Given the description of an element on the screen output the (x, y) to click on. 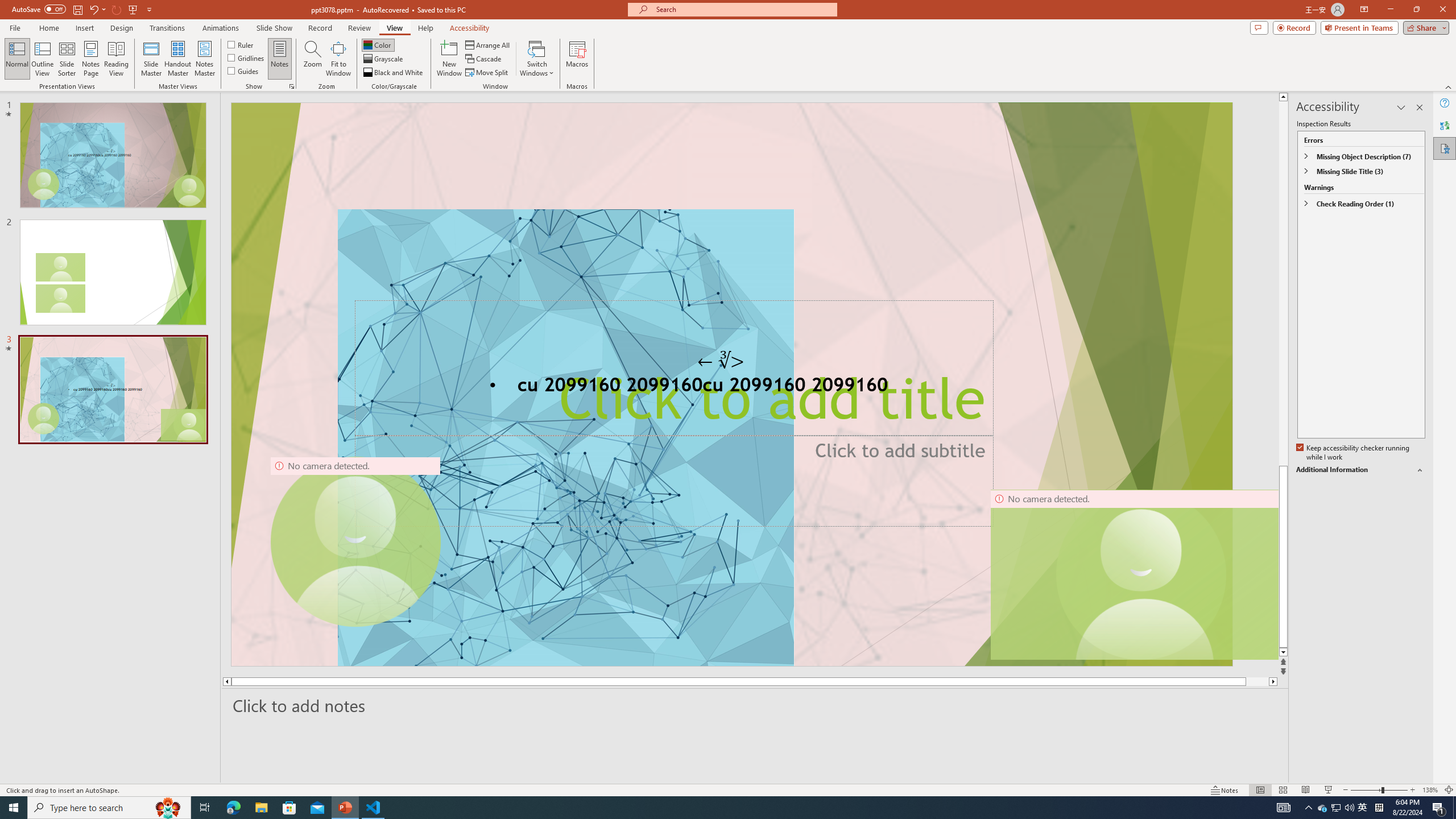
Zoom to Fit  (1449, 790)
Switch Windows (537, 58)
Present in Teams (1359, 27)
Microsoft search (742, 9)
Camera 11, No camera detected. (1141, 574)
TextBox 7 (720, 360)
Slide Notes (755, 705)
Notes Master (204, 58)
Page up (1283, 283)
Task Pane Options (1400, 107)
